Given the description of an element on the screen output the (x, y) to click on. 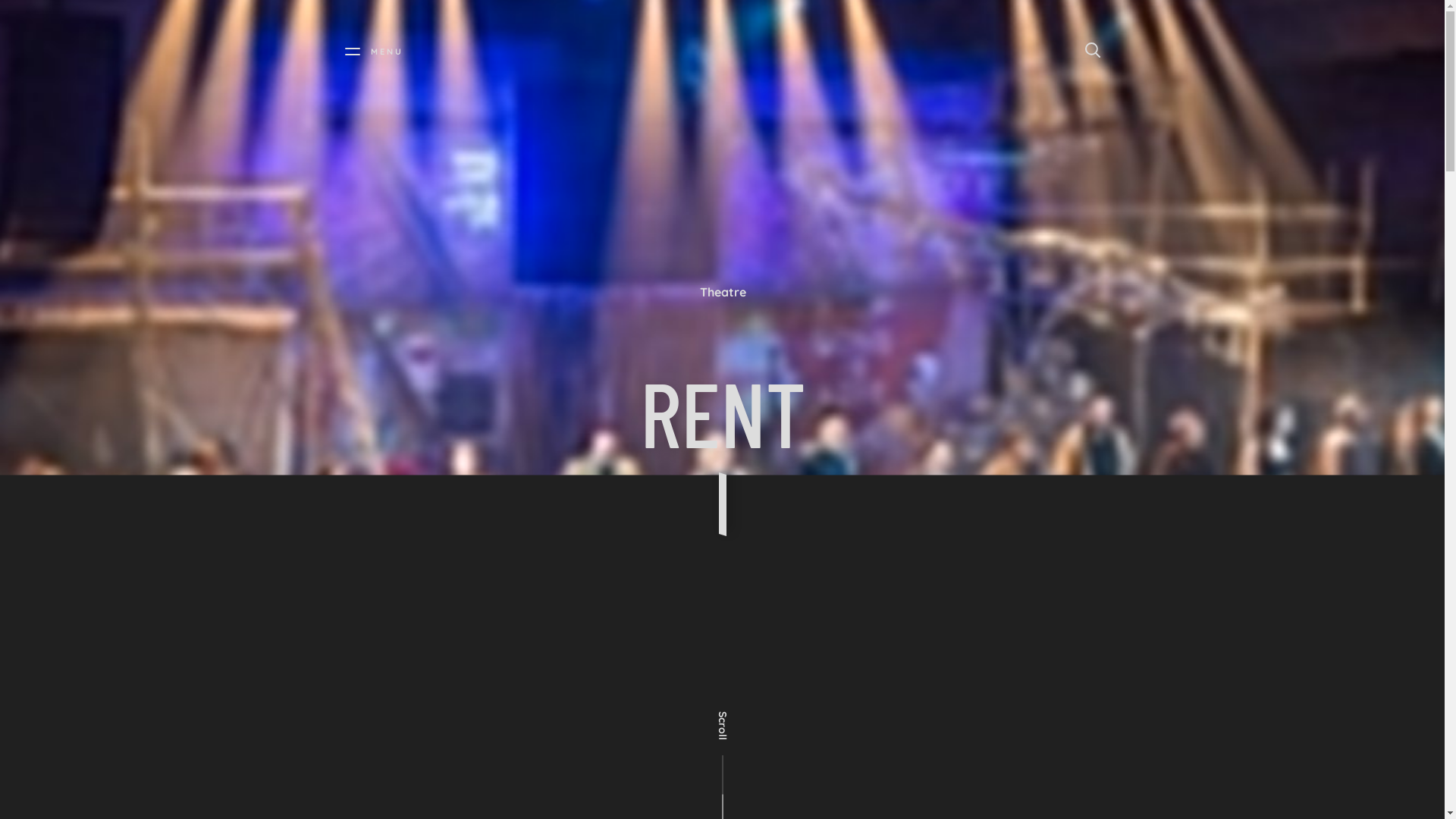
Theatre Element type: text (722, 292)
